Given the description of an element on the screen output the (x, y) to click on. 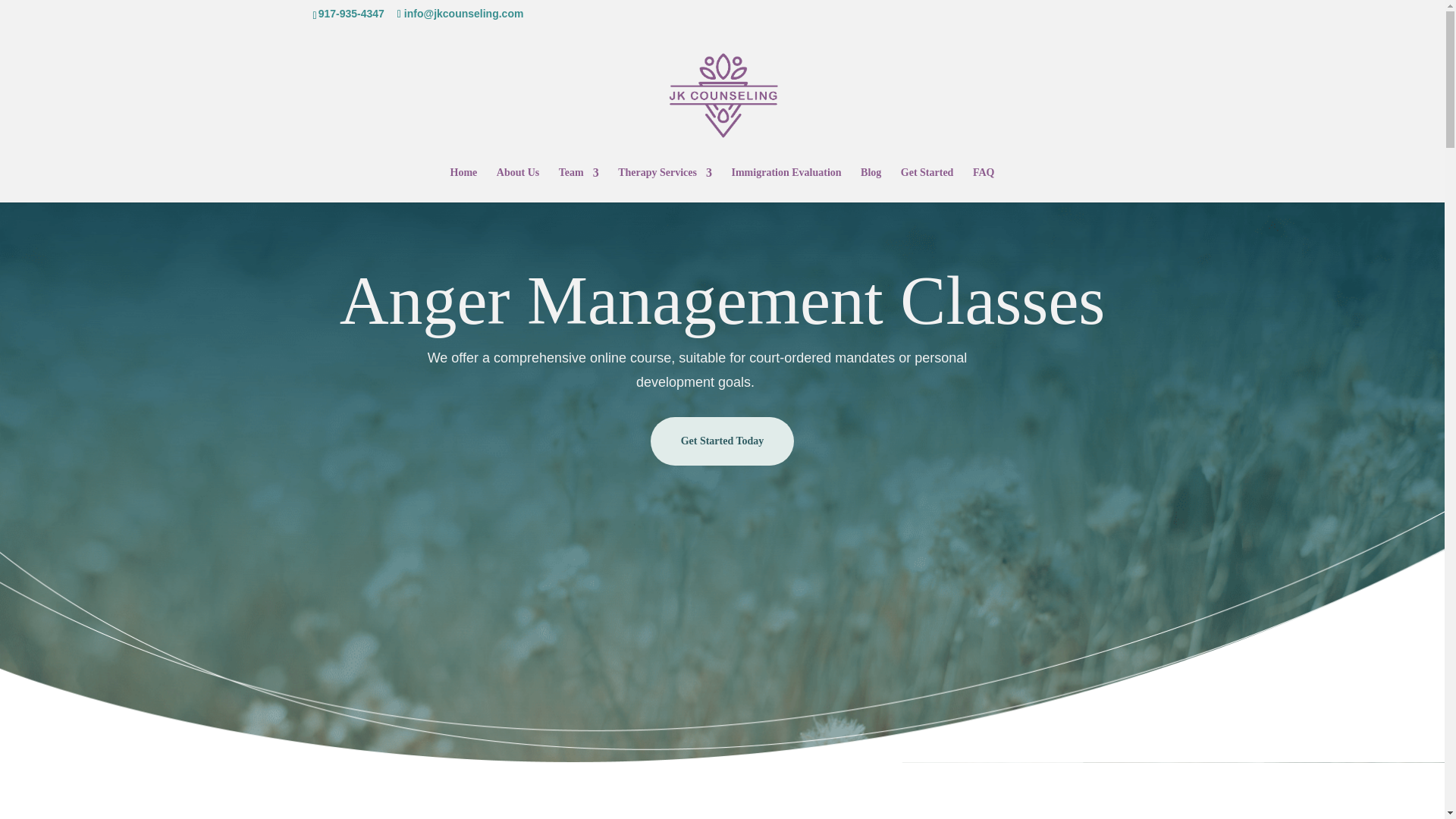
Immigration Evaluation (785, 184)
Therapy Services (664, 184)
Team (578, 184)
Home (463, 184)
About Us (517, 184)
Get Started (927, 184)
FAQ (983, 184)
Blog (870, 184)
917-935-4347 (351, 13)
